Given the description of an element on the screen output the (x, y) to click on. 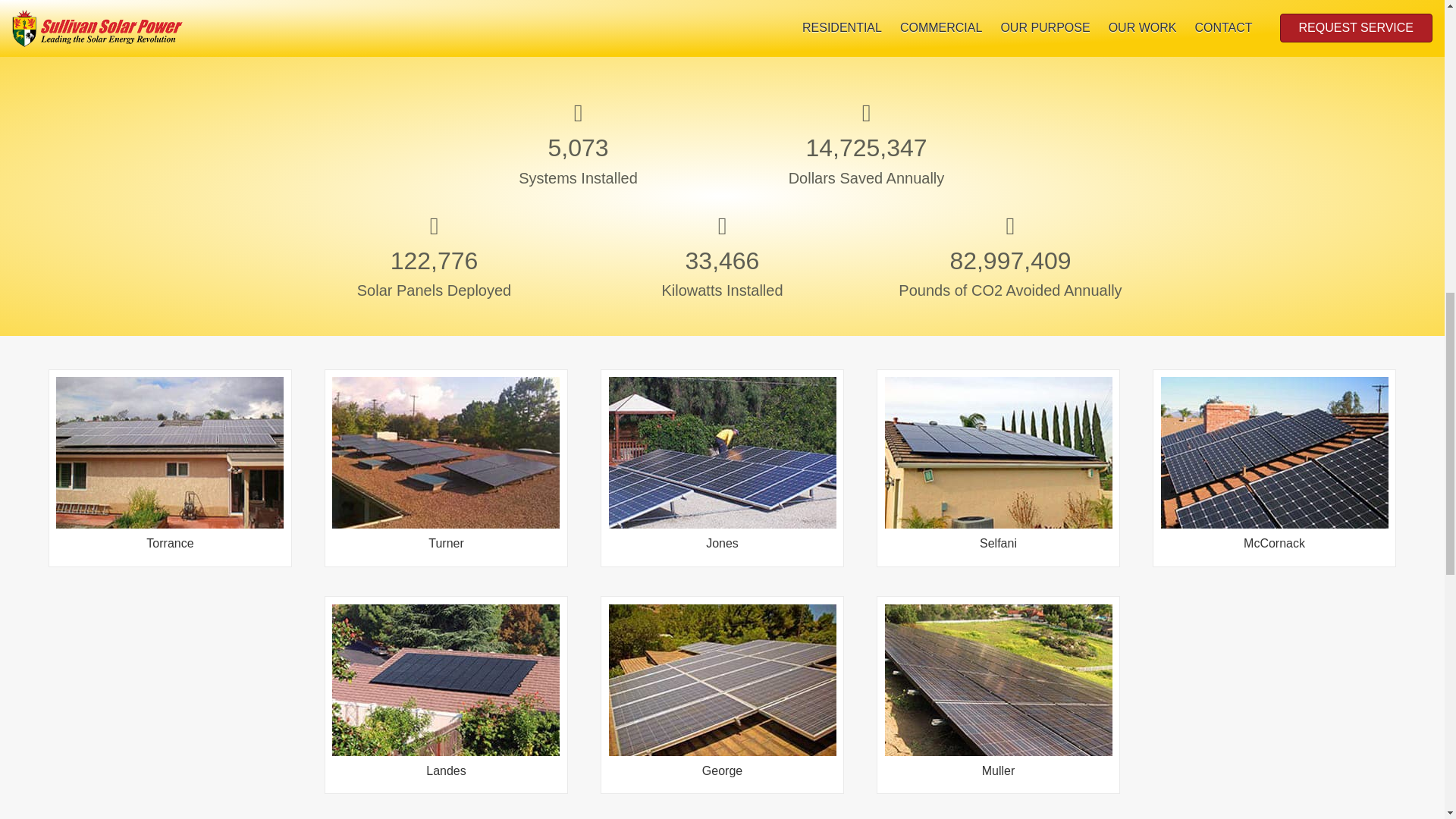
Turner (445, 501)
Jones (721, 501)
Selfani (998, 501)
George (721, 729)
Muller (998, 729)
McCornack (1274, 501)
Landes (445, 729)
Torrance (169, 501)
